Given the description of an element on the screen output the (x, y) to click on. 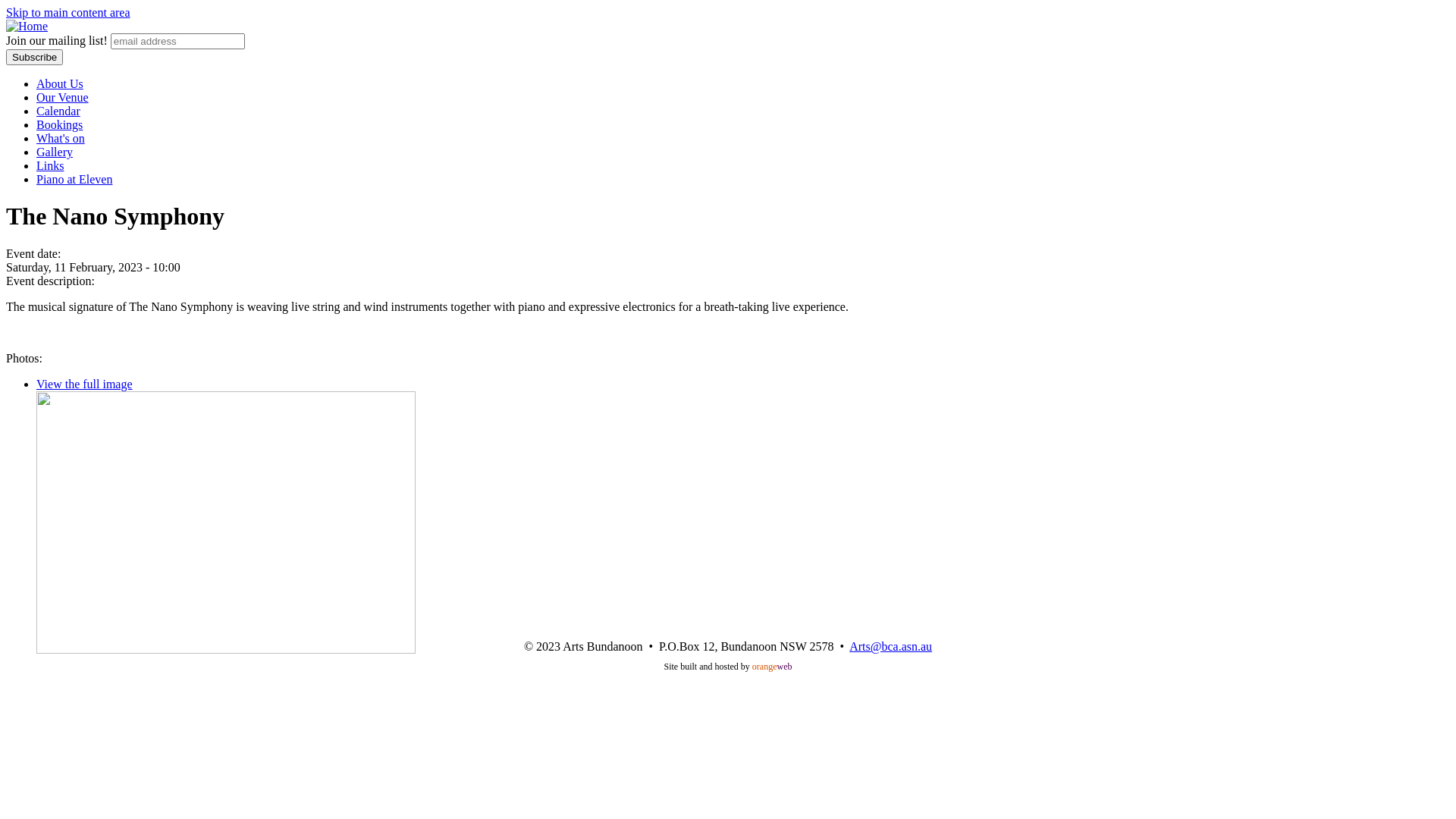
orangeweb Element type: text (772, 666)
Subscribe Element type: text (34, 57)
The Nano Symphony Element type: hover (225, 522)
Arts@bca.asn.au Element type: text (890, 646)
About Us Element type: text (59, 83)
Bookings Element type: text (59, 124)
Skip to main content area Element type: text (68, 12)
View the full image Element type: text (84, 383)
Links Element type: text (49, 165)
Our Venue Element type: text (62, 97)
Piano at Eleven Element type: text (74, 178)
Calendar Element type: text (58, 110)
Gallery Element type: text (54, 151)
Home Element type: hover (26, 25)
What's on Element type: text (60, 137)
